Given the description of an element on the screen output the (x, y) to click on. 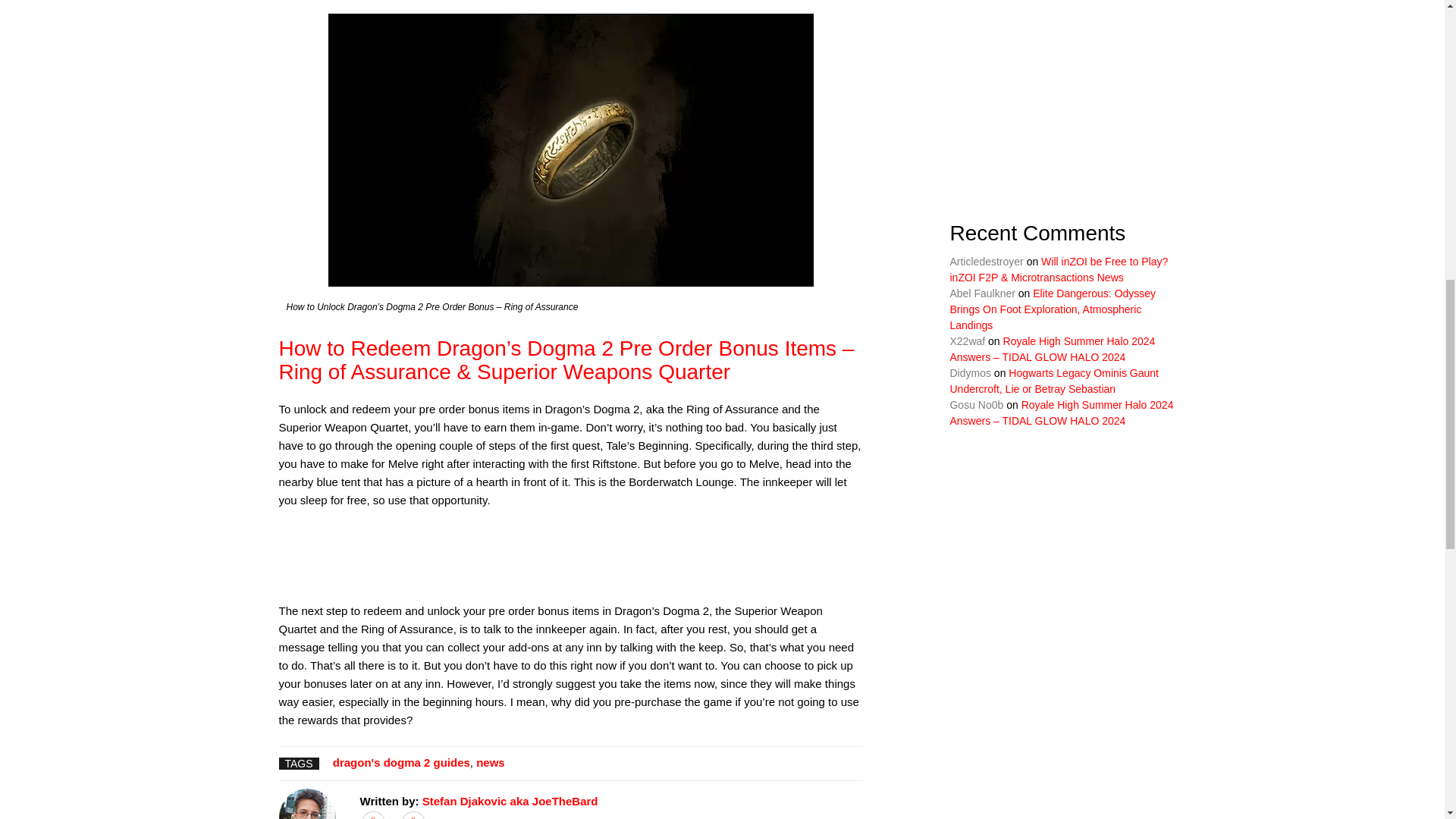
Stefan Djakovic aka JoeTheBard (510, 800)
Author Twitter Profile (373, 816)
news (490, 762)
Contact author (413, 816)
dragon's dogma 2 guides (401, 762)
